Given the description of an element on the screen output the (x, y) to click on. 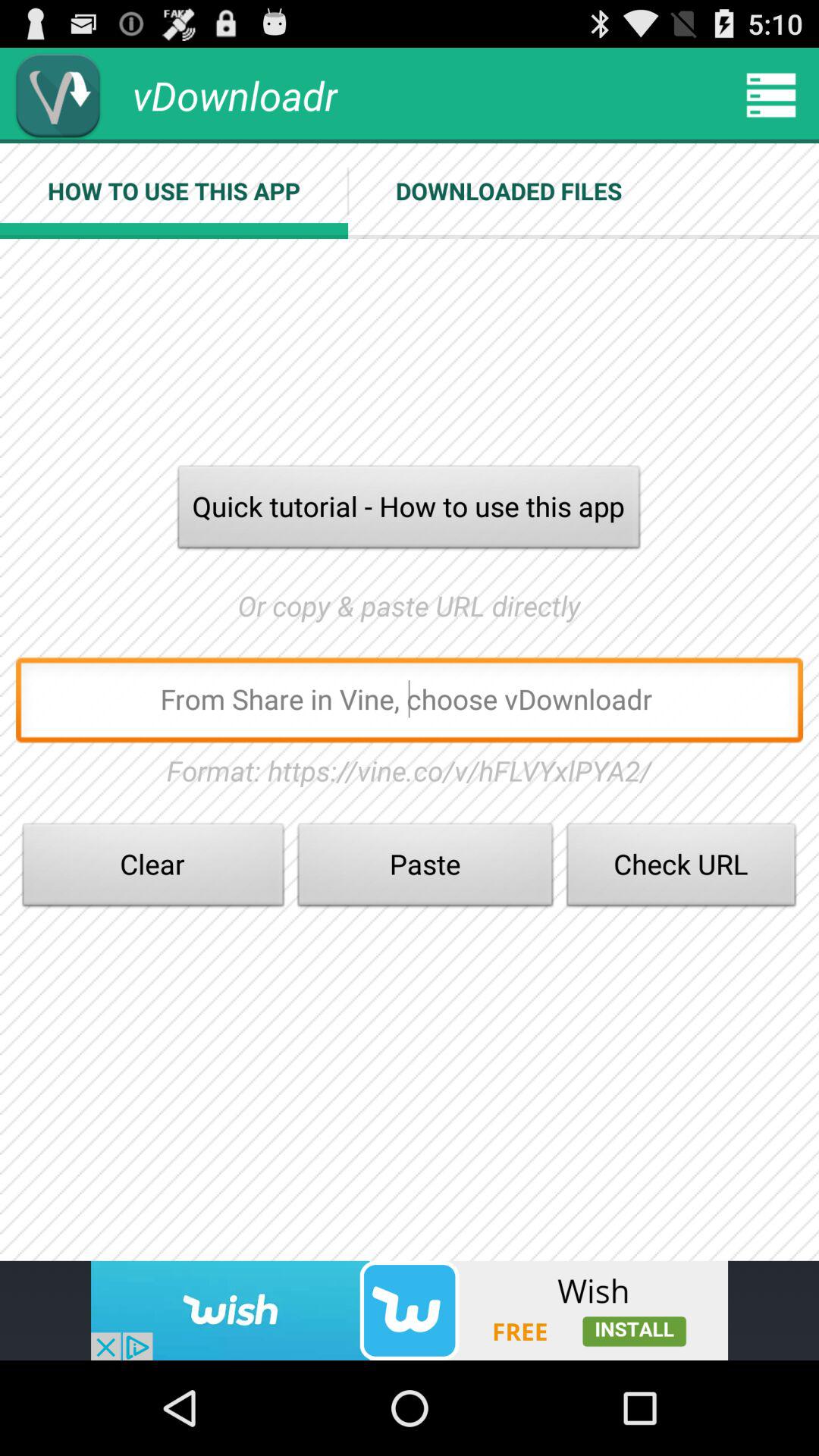
download option (58, 95)
